Given the description of an element on the screen output the (x, y) to click on. 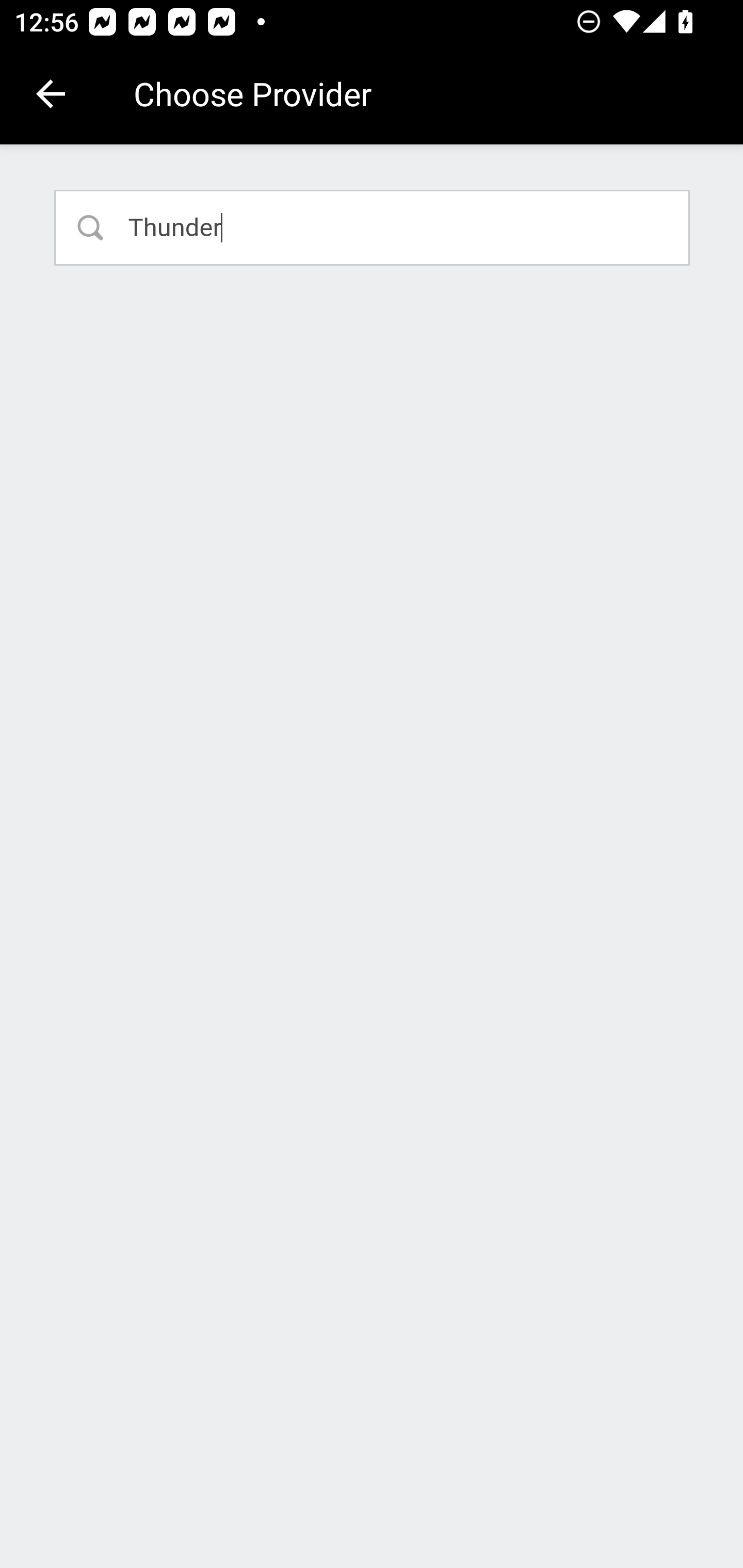
Navigate up (50, 93)
Thunder (372, 227)
